Given the description of an element on the screen output the (x, y) to click on. 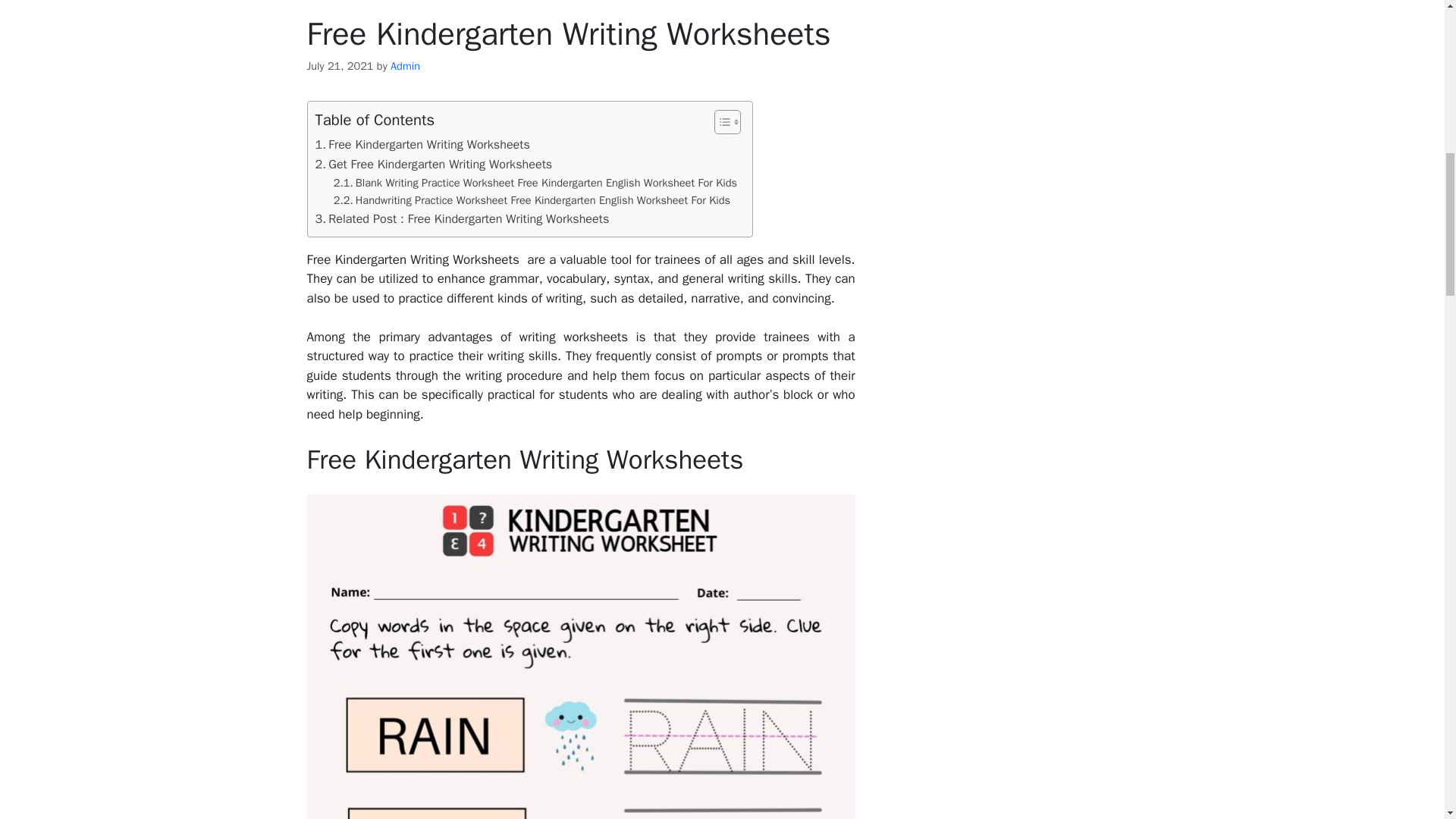
Admin (405, 65)
Related Post : Free Kindergarten Writing Worksheets (462, 219)
Free Kindergarten Writing Worksheets (422, 144)
Free Kindergarten Writing Worksheets (422, 144)
Get Free Kindergarten Writing Worksheets (434, 164)
Related Post : Free Kindergarten Writing Worksheets (462, 219)
View all posts by Admin (405, 65)
